Given the description of an element on the screen output the (x, y) to click on. 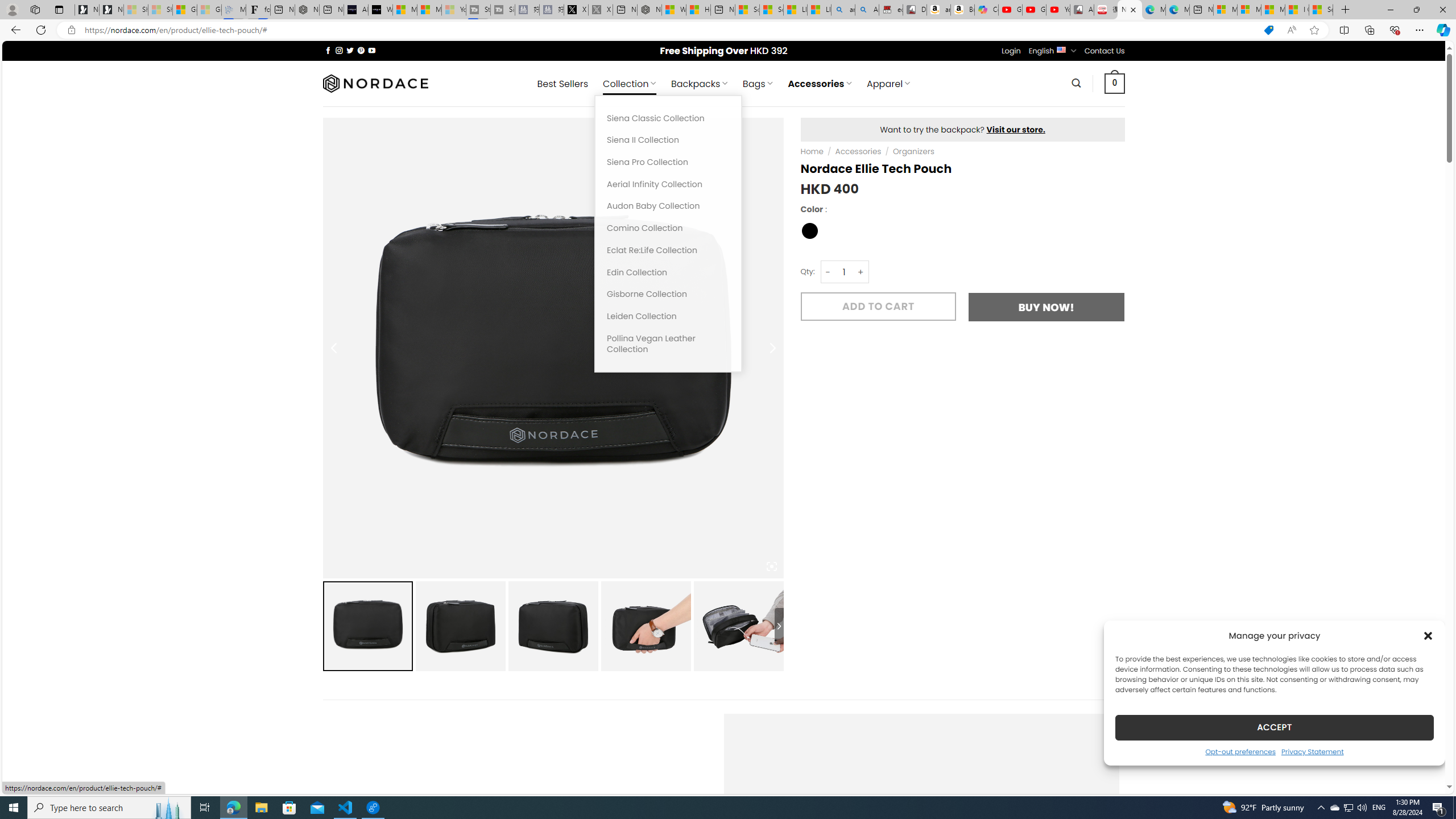
Class: iconic-woothumbs-fullscreen (771, 566)
Privacy Statement (1312, 750)
Read aloud this page (Ctrl+Shift+U) (1291, 29)
X - Sleeping (600, 9)
All Cubot phones (1082, 9)
Pollina Vegan Leather Collection (668, 343)
BUY NOW! (1046, 307)
Visit our store. (1015, 129)
ADD TO CART (878, 306)
Organizers (913, 151)
